Given the description of an element on the screen output the (x, y) to click on. 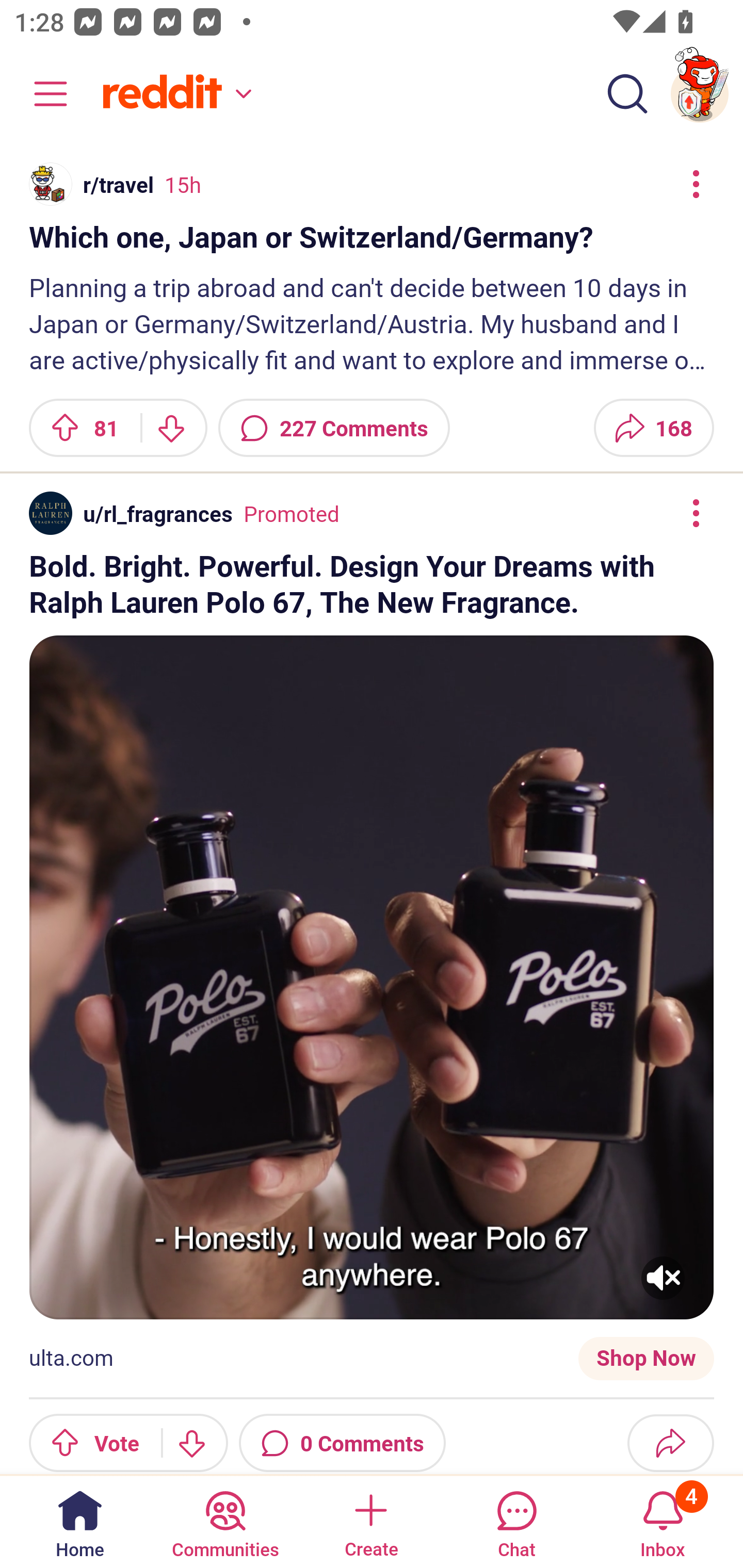
Search (626, 93)
TestAppium002 account (699, 93)
Community menu (41, 94)
Home feed (173, 94)
Home (80, 1520)
Communities (225, 1520)
Create a post Create (370, 1520)
Chat (516, 1520)
Inbox, has 4 notifications 4 Inbox (662, 1520)
